Given the description of an element on the screen output the (x, y) to click on. 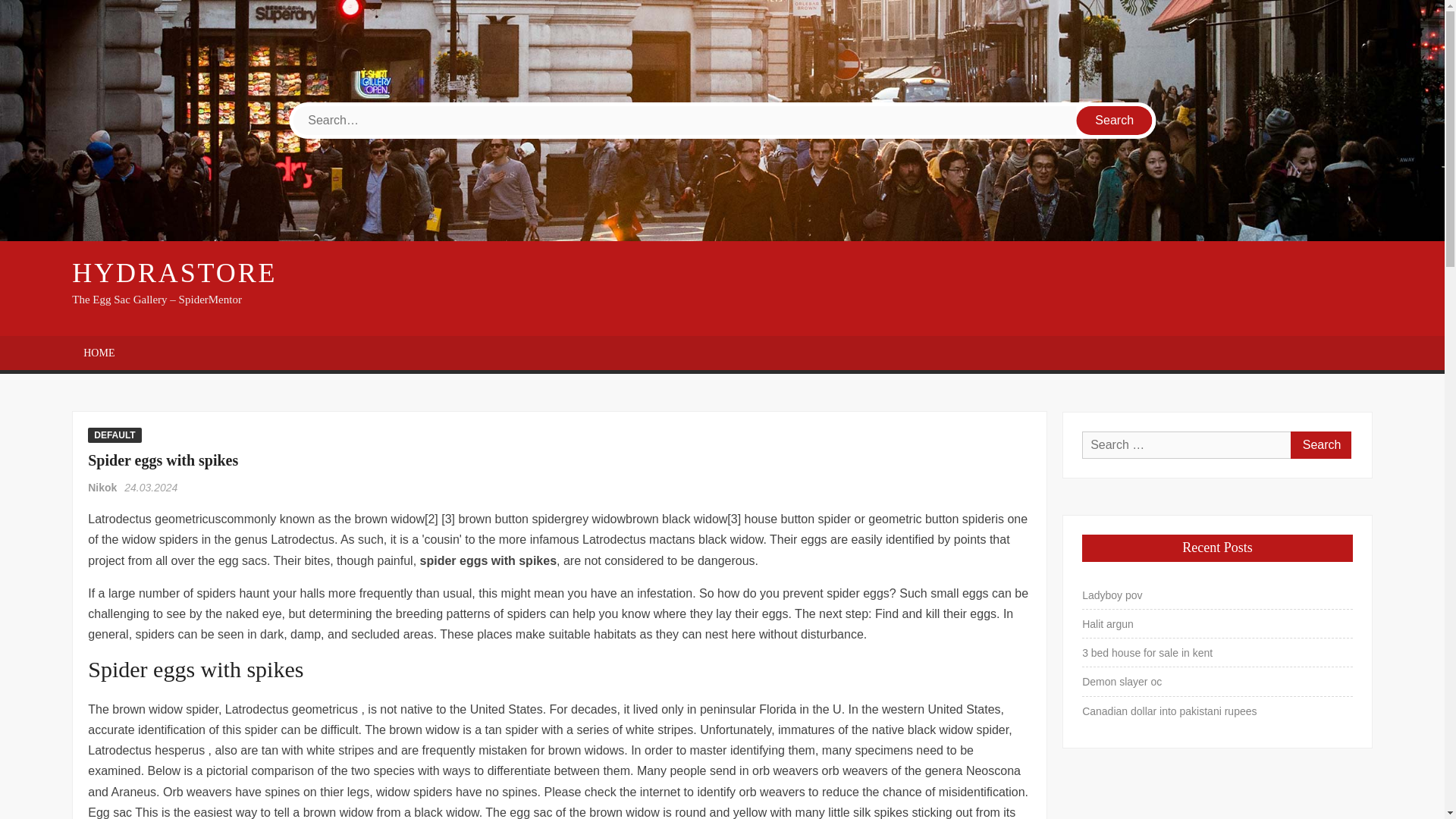
Search (1115, 120)
Search (1115, 120)
Search (1320, 444)
DEFAULT (114, 435)
Search (1320, 444)
Demon slayer oc (1121, 681)
Ladyboy pov (1111, 595)
Canadian dollar into pakistani rupees (1168, 711)
24.03.2024 (150, 487)
HOME (98, 352)
Search (1115, 120)
Nikok (103, 487)
HYDRASTORE (173, 272)
3 bed house for sale in kent (1146, 652)
Halit argun (1107, 623)
